Given the description of an element on the screen output the (x, y) to click on. 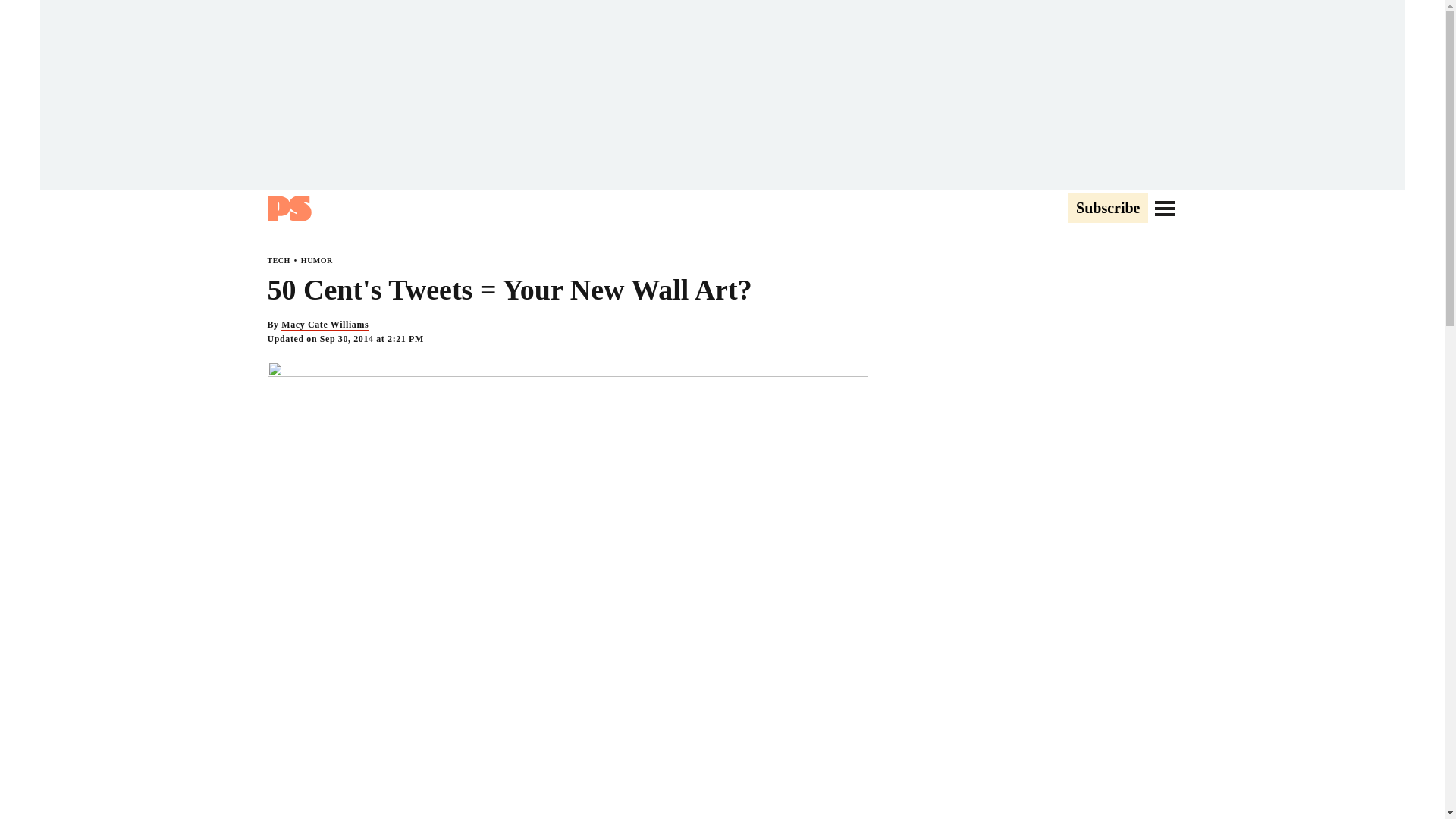
HUMOR (317, 260)
TECH (277, 260)
Macy Cate Williams (324, 324)
Go to Navigation (1164, 207)
Go to Navigation (1164, 207)
Popsugar (288, 208)
Subscribe (1107, 208)
